Given the description of an element on the screen output the (x, y) to click on. 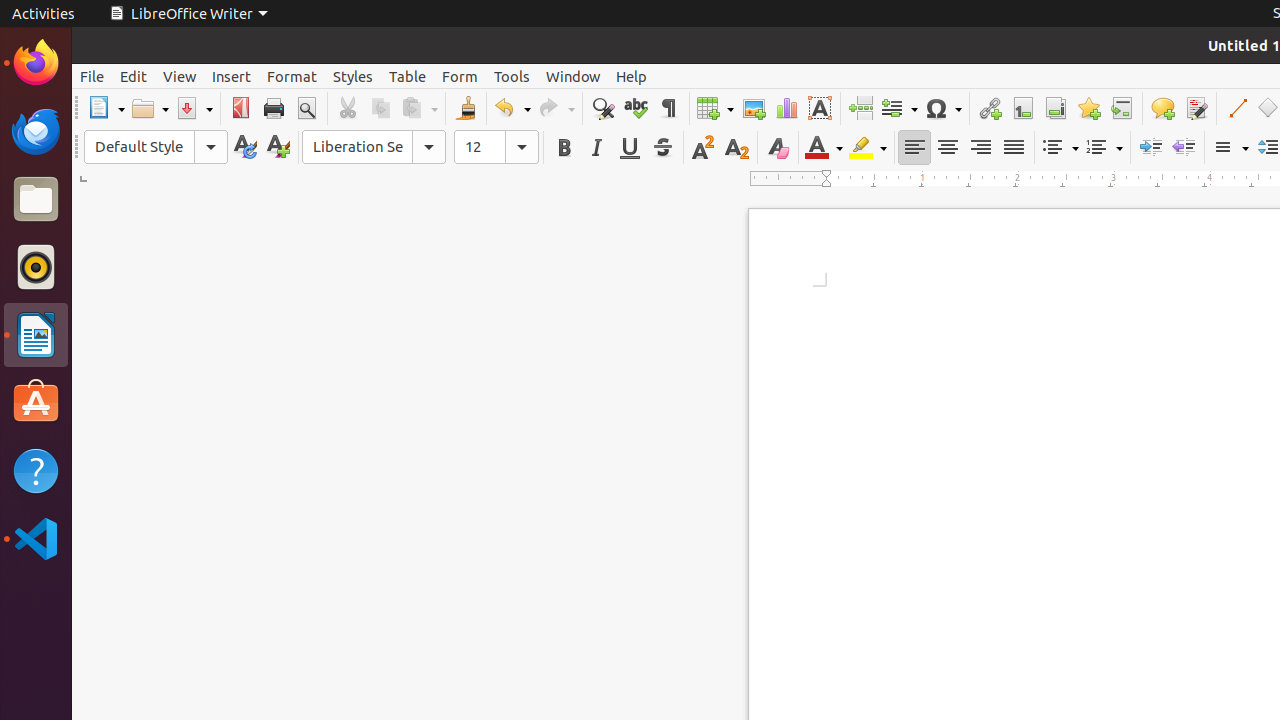
Symbol Element type: push-button (943, 108)
Line Spacing Element type: push-button (1230, 147)
Bold Element type: toggle-button (563, 147)
Rhythmbox Element type: push-button (36, 267)
